Given the description of an element on the screen output the (x, y) to click on. 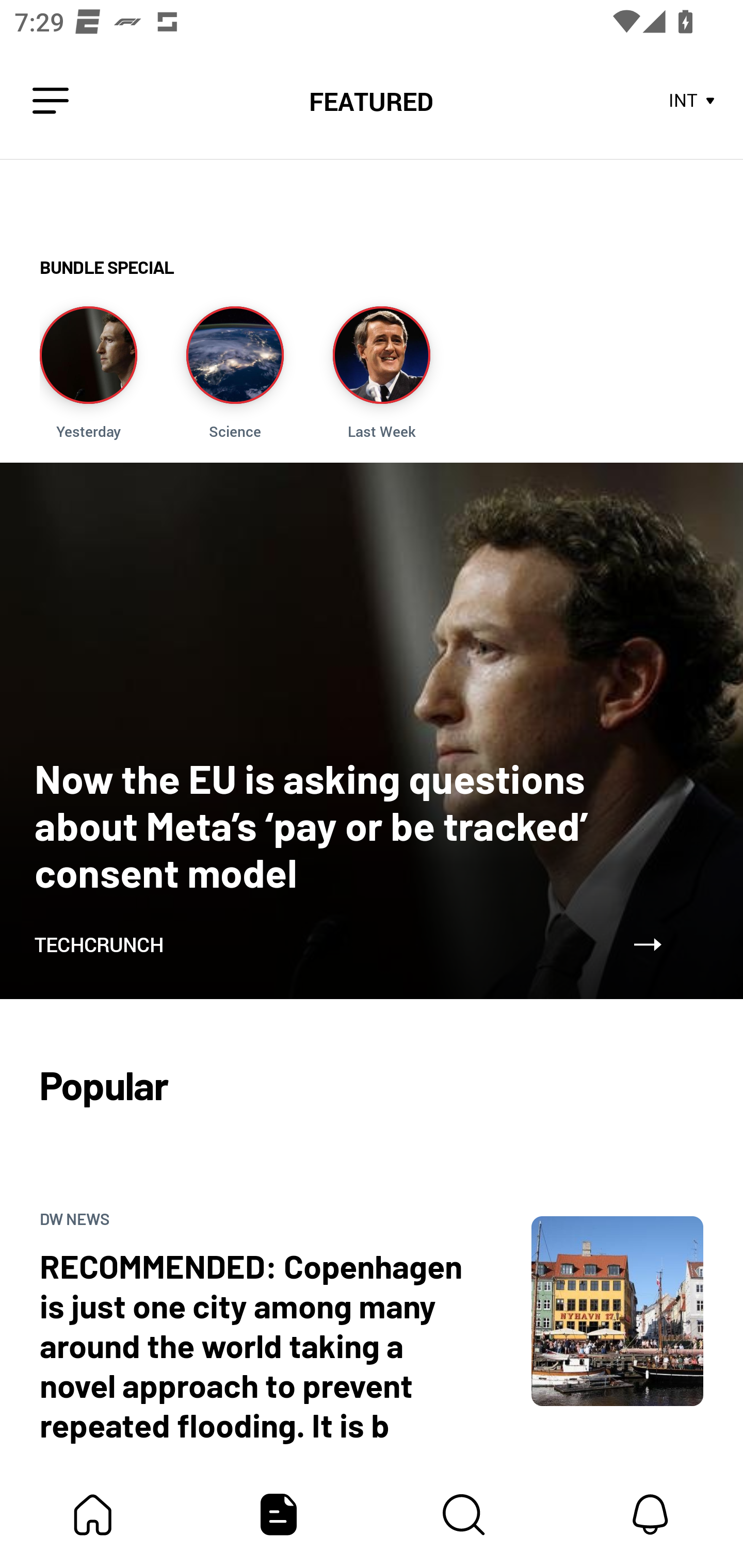
Leading Icon (50, 101)
INT Store Area (692, 101)
Story Image Yesterday (88, 372)
Story Image Science (234, 372)
Story Image Last Week (381, 372)
My Bundle (92, 1514)
Content Store (464, 1514)
Notifications (650, 1514)
